Given the description of an element on the screen output the (x, y) to click on. 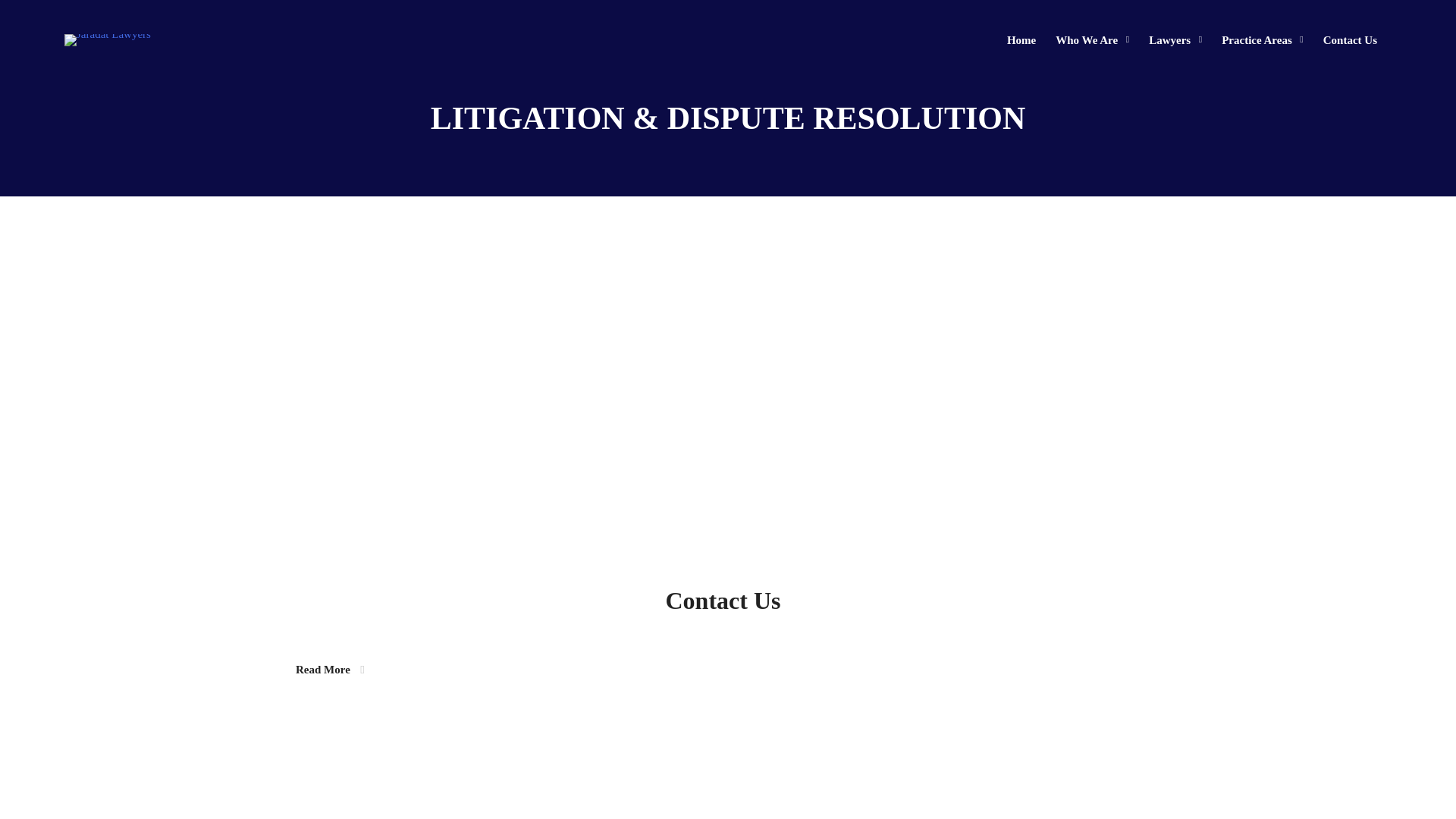
Who We Are (1091, 40)
What We Do (1041, 589)
Contact Us (1350, 40)
Lawyers (1174, 40)
Read More (330, 669)
Practice Areas (1262, 40)
Who We Are (930, 589)
